Given the description of an element on the screen output the (x, y) to click on. 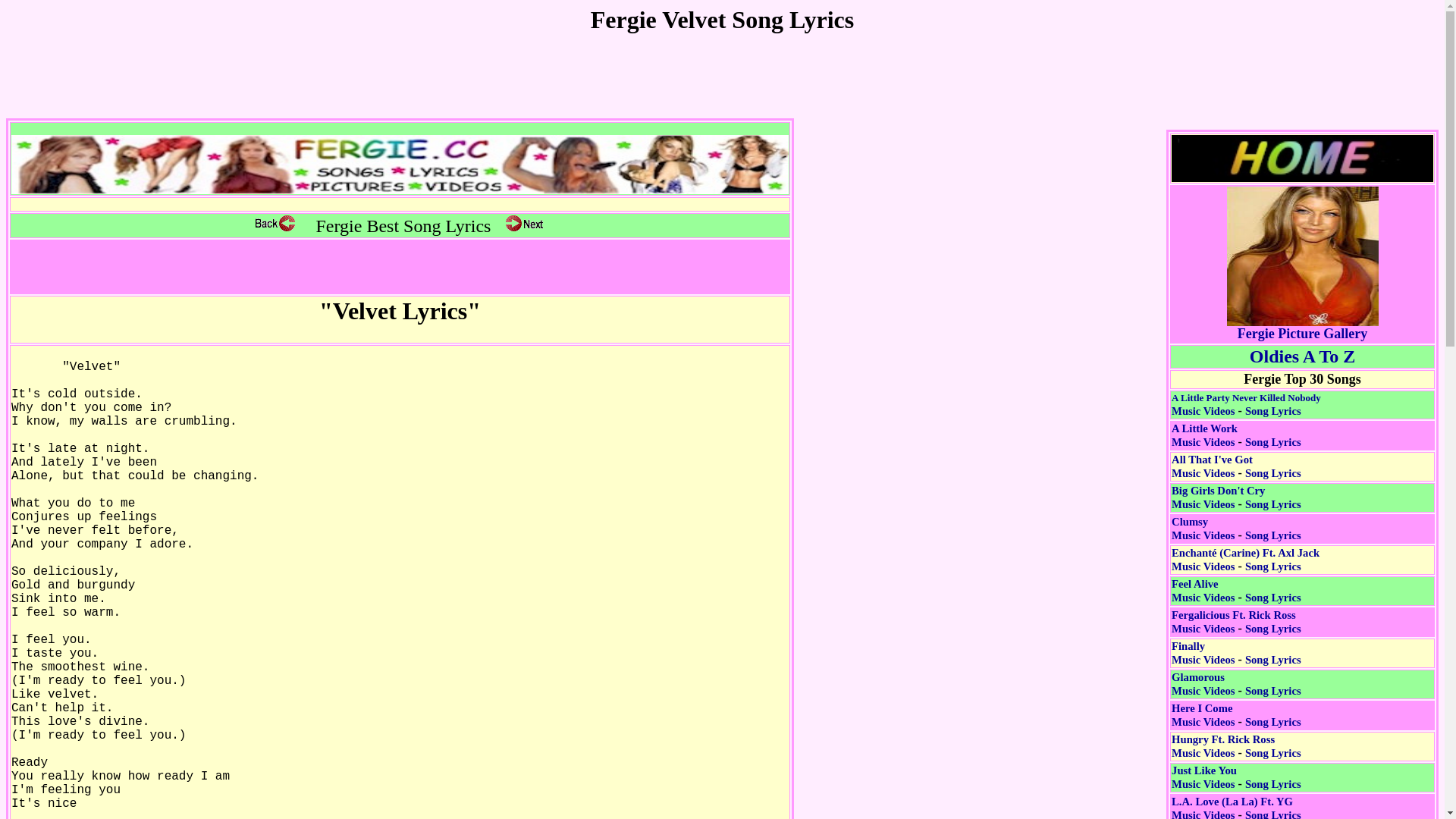
All That I've Got
Music Videos Element type: text (1211, 466)
Song Lyrics Element type: text (1273, 410)
A Little Work
Music Videos Element type: text (1204, 435)
Feel Alive
Music Videos Element type: text (1202, 590)
Hungry Ft. Rick Ross
Music Videos Element type: text (1222, 746)
Here I Come
Music Videos Element type: text (1202, 715)
A Little Party Never Killed Nobody
Music Videos Element type: text (1246, 404)
Song Lyrics Element type: text (1273, 473)
Song Lyrics Element type: text (1273, 784)
Just Like You
Music Videos Element type: text (1203, 777)
Fergalicious Ft. Rick Ross
Music Videos Element type: text (1233, 621)
Finally
Music Videos Element type: text (1202, 652)
Song Lyrics Element type: text (1273, 659)
Song Lyrics Element type: text (1273, 597)
Song Lyrics Element type: text (1273, 628)
Fergie Picture Gallery Element type: text (1302, 328)
Song Lyrics Element type: text (1273, 442)
Song Lyrics Element type: text (1273, 535)
Song Lyrics Element type: text (1273, 566)
Glamorous
Music Videos Element type: text (1202, 683)
Clumsy
Music Videos Element type: text (1202, 528)
Song Lyrics Element type: text (1273, 752)
Song Lyrics Element type: text (1273, 721)
Oldies A To Z Element type: text (1302, 358)
Song Lyrics Element type: text (1273, 690)
Song Lyrics Element type: text (1273, 504)
Big Girls Don't Cry
Music Videos Element type: text (1217, 497)
